Given the description of an element on the screen output the (x, y) to click on. 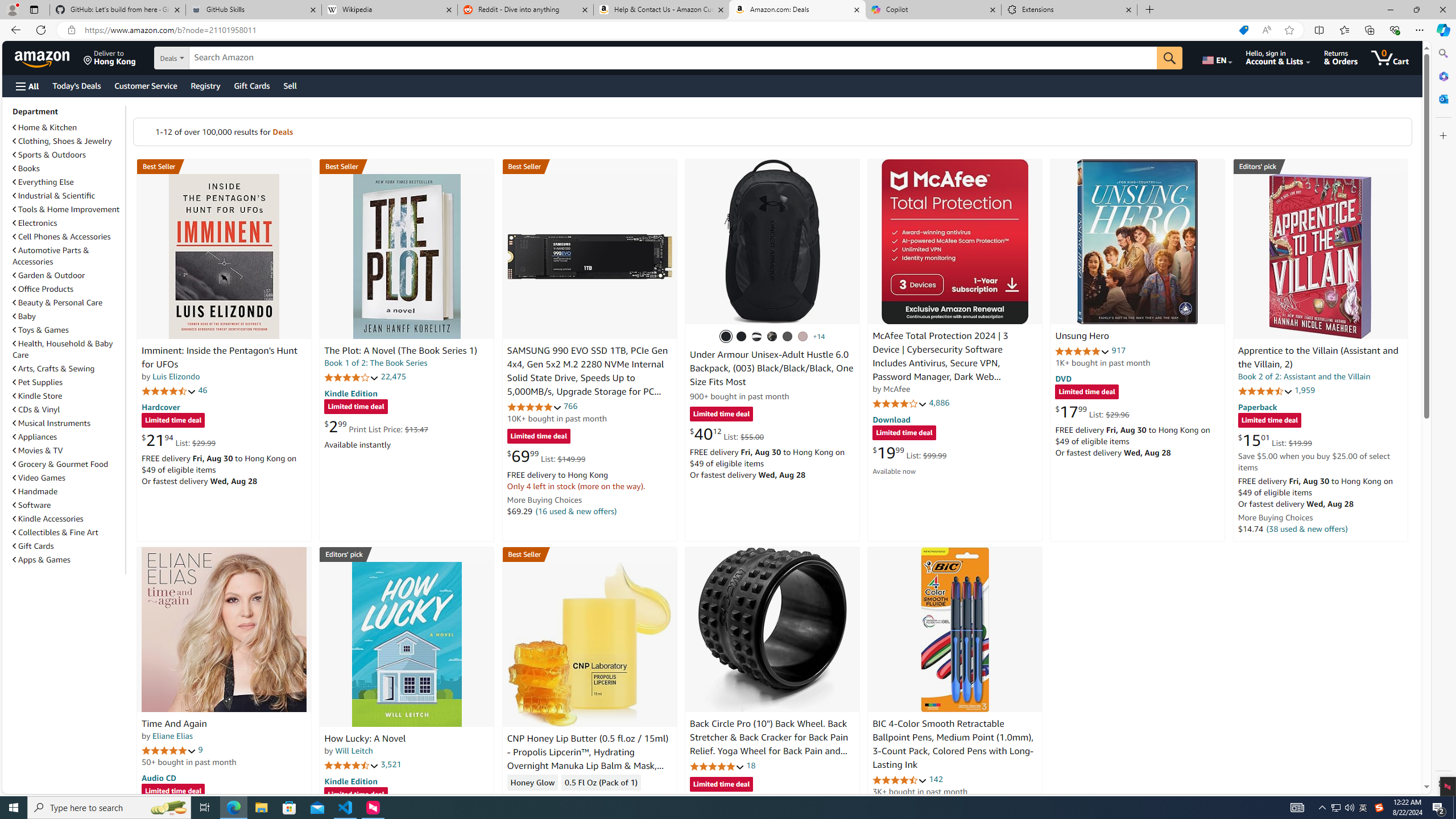
Amazon.com: Deals (797, 9)
Best Seller in Lip Butters (589, 553)
3,521 (390, 764)
Best Seller in Unexplained Mysteries (223, 165)
Imminent: Inside the Pentagon's Hunt for UFOs (223, 256)
Unsung Hero (1082, 336)
Extensions (1068, 9)
Health, Household & Baby Care (67, 348)
Time And Again (173, 723)
Baby (67, 315)
How Lucky: A Novel (405, 644)
Industrial & Scientific (54, 195)
